Given the description of an element on the screen output the (x, y) to click on. 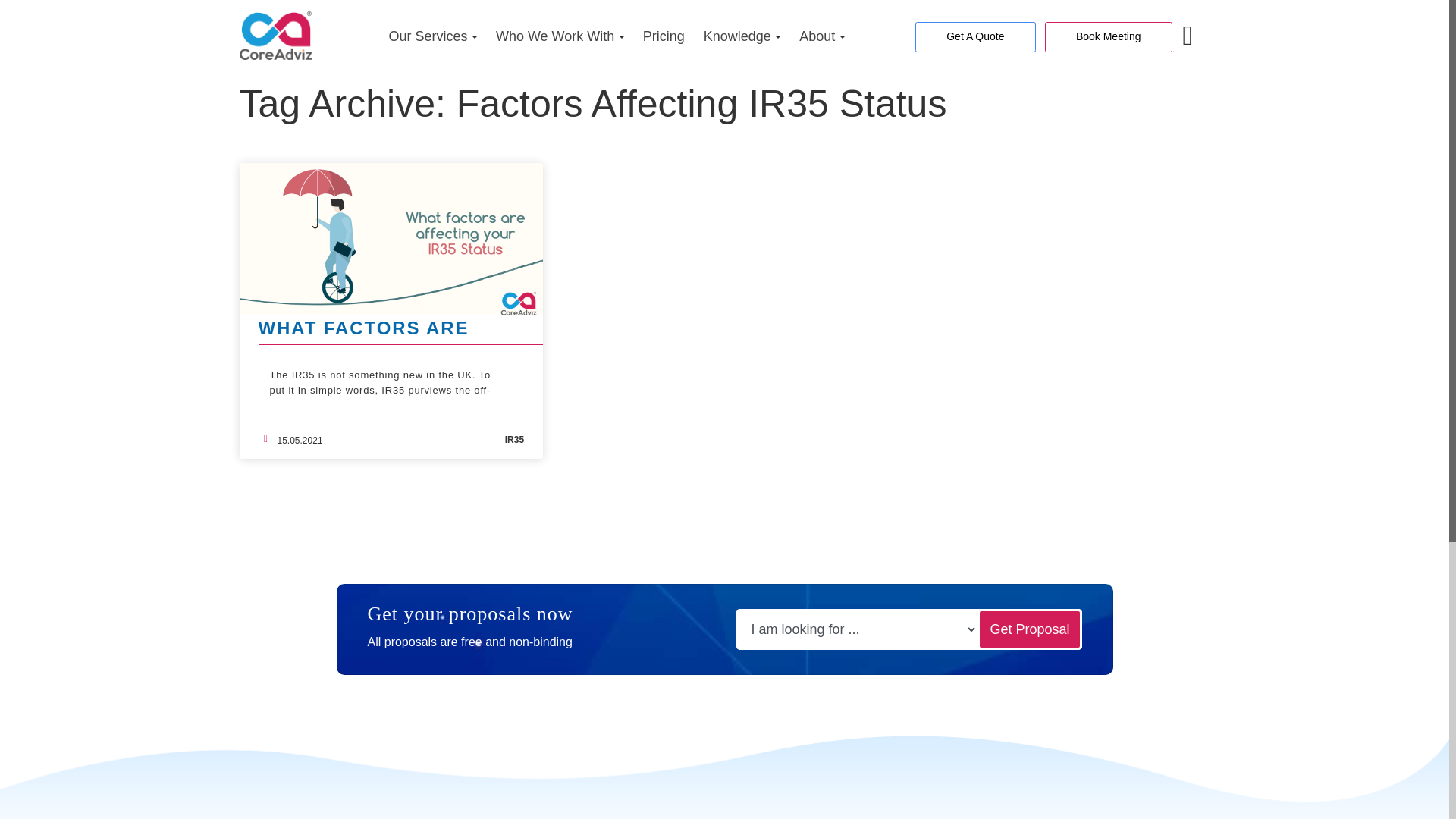
Who We Work With (555, 36)
Our Services (427, 36)
Pricing (663, 36)
